Given the description of an element on the screen output the (x, y) to click on. 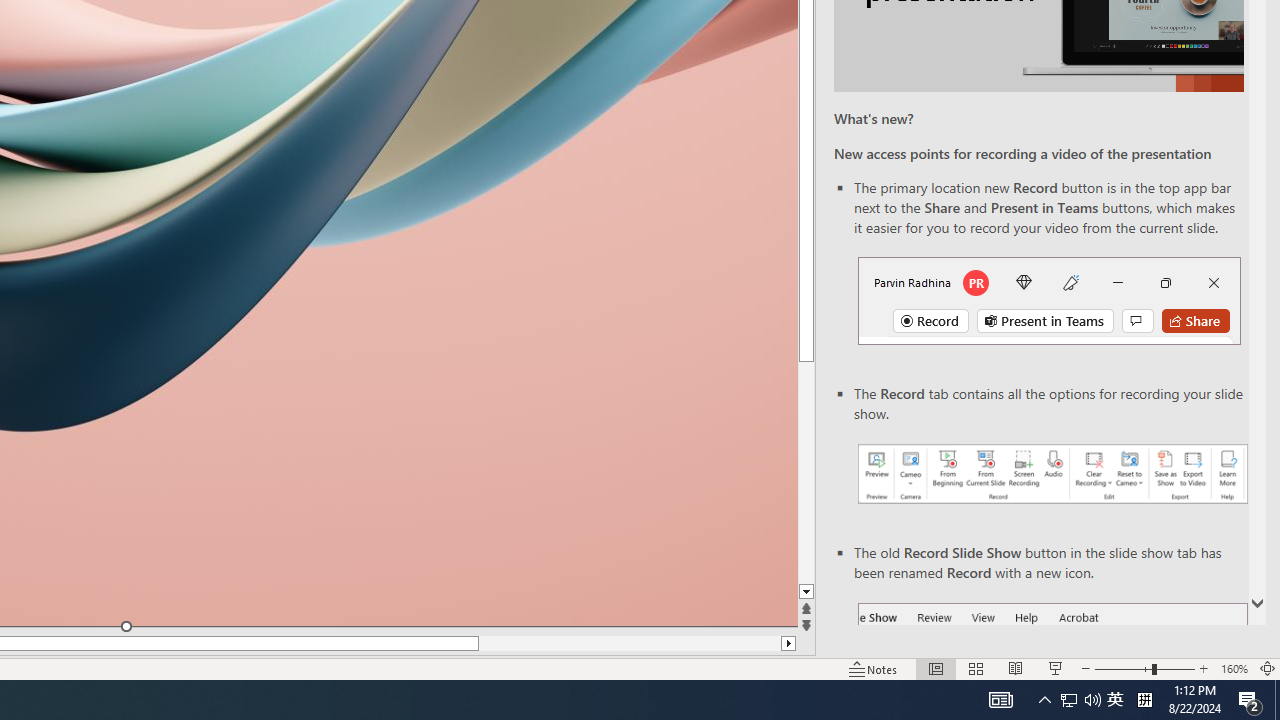
Line down (806, 592)
Zoom Out (1123, 668)
Slide Sorter (975, 668)
Page down (806, 472)
Normal (936, 668)
Notes  (874, 668)
Record your presentations screenshot one (1052, 473)
Reading View (1015, 668)
Zoom to Fit  (1267, 668)
Zoom (1144, 668)
Slide Show (1055, 668)
Zoom In (1204, 668)
Record button in top bar (1049, 300)
